Given the description of an element on the screen output the (x, y) to click on. 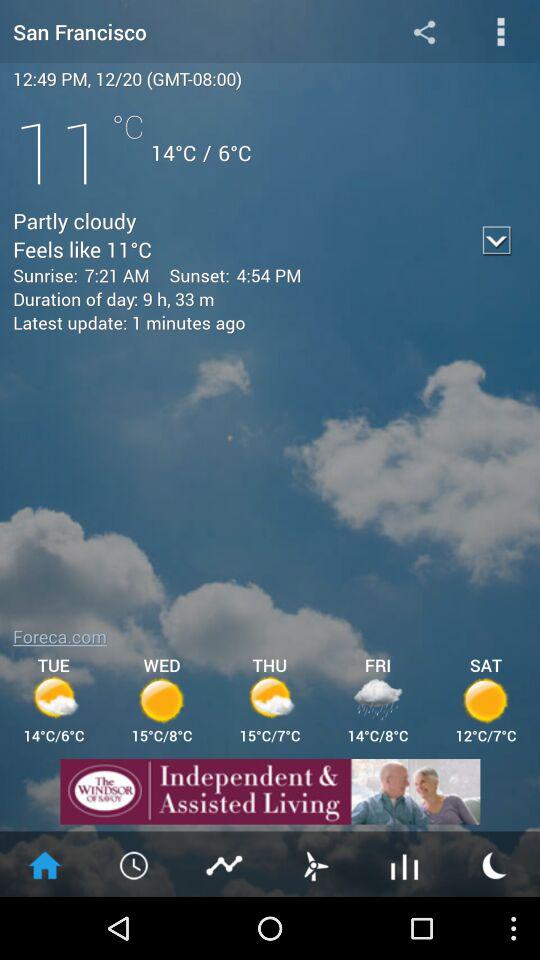
go to home page (45, 864)
